Given the description of an element on the screen output the (x, y) to click on. 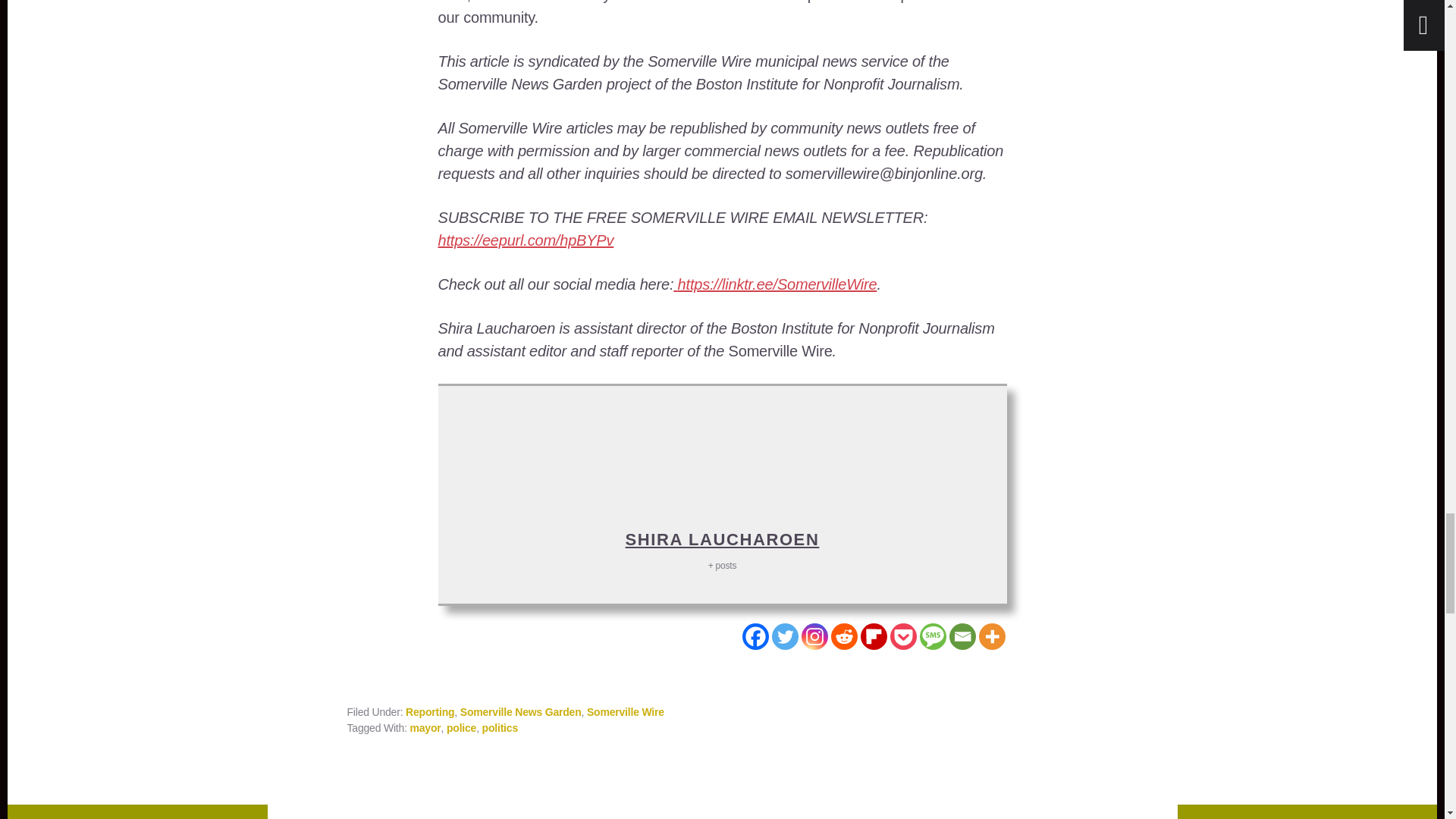
Somerville News Garden (520, 711)
Flipboard (873, 636)
politics (499, 727)
Reddit (844, 636)
Reporting (430, 711)
Email (962, 636)
Somerville Wire (624, 711)
mayor (425, 727)
Instagram (813, 636)
SMS (931, 636)
police (461, 727)
Twitter (784, 636)
SHIRA LAUCHAROEN (722, 538)
Pocket (903, 636)
More (991, 636)
